Given the description of an element on the screen output the (x, y) to click on. 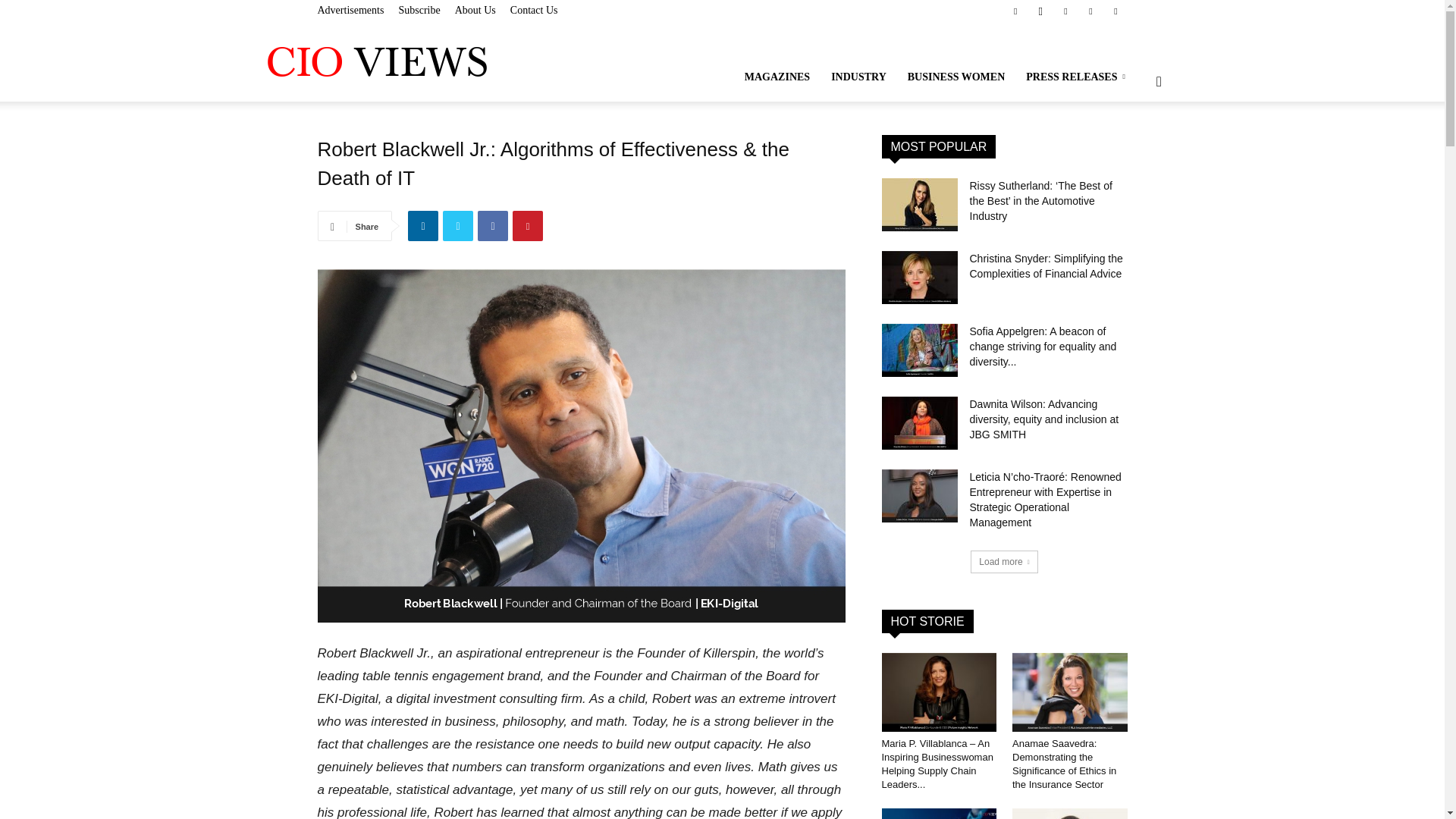
Advertisements (350, 9)
Instagram (1040, 10)
CIO VIEWS (376, 61)
Subscribe (418, 9)
Facebook (1015, 10)
Search (1134, 153)
Contact Us (534, 9)
BUSINESS WOMEN (956, 76)
MAGAZINES (777, 76)
PRESS RELEASES (1077, 76)
Facebook (492, 225)
Twitter (1114, 10)
Pinterest (1090, 10)
